Given the description of an element on the screen output the (x, y) to click on. 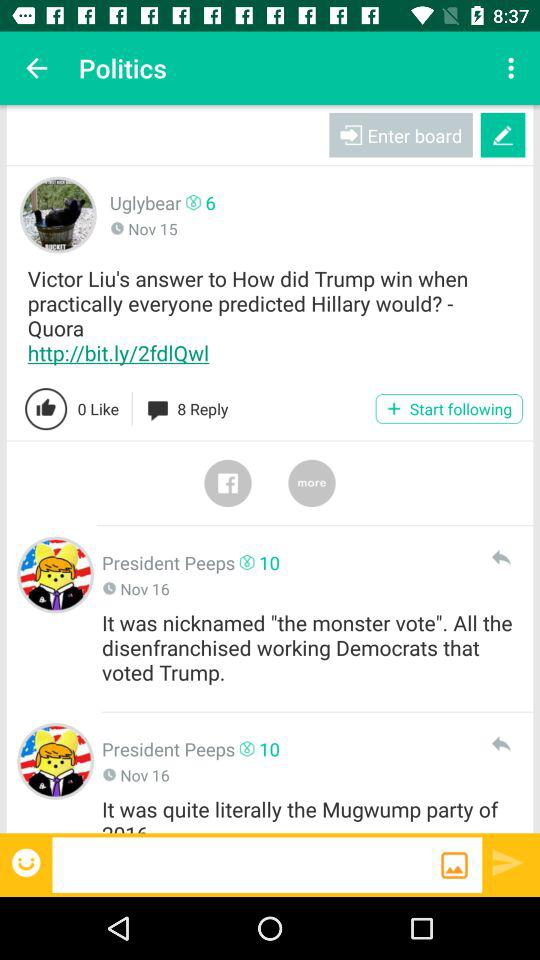
emoji list option (28, 862)
